Given the description of an element on the screen output the (x, y) to click on. 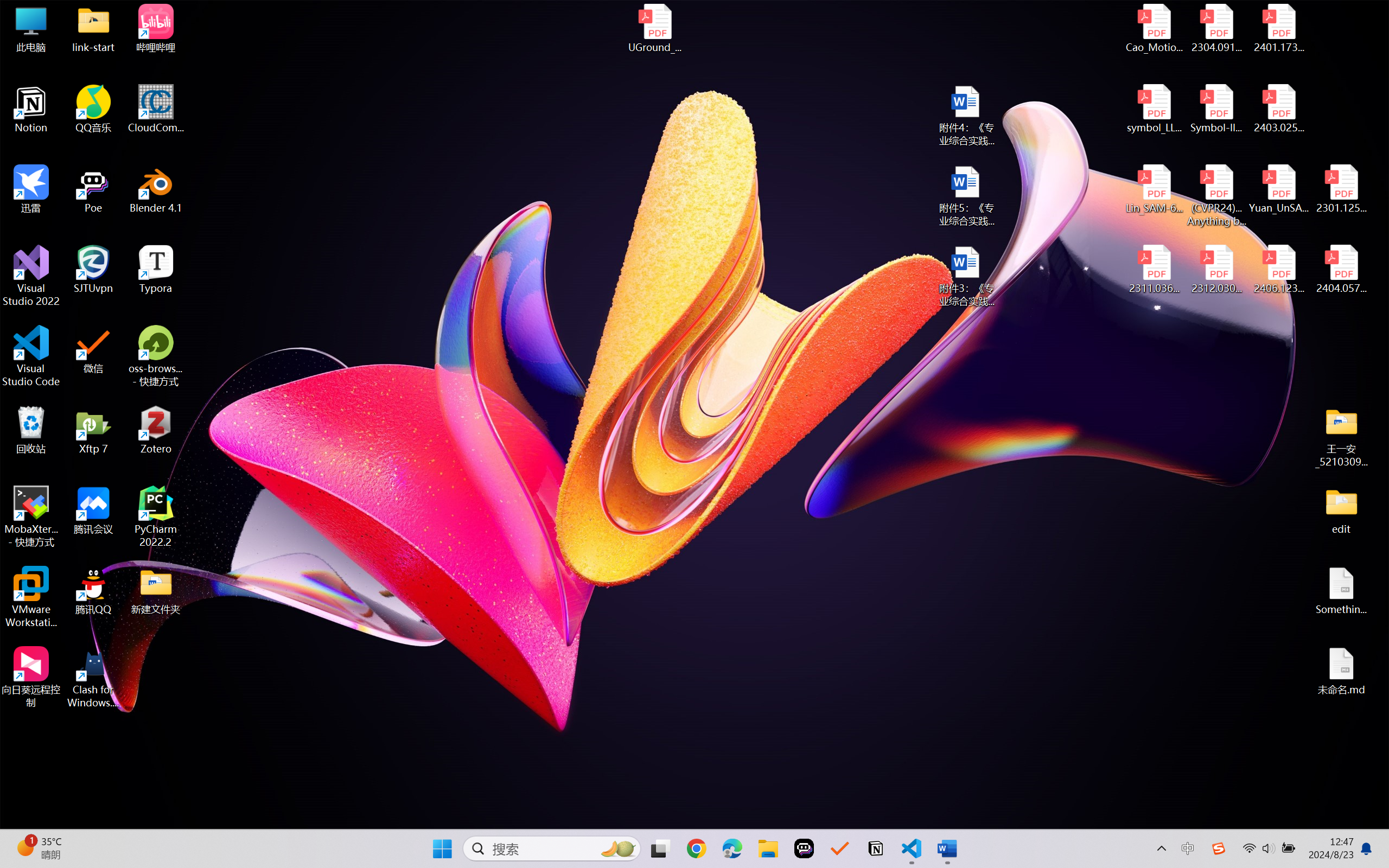
2401.17399v1.pdf (1278, 28)
2404.05719v1.pdf (1340, 269)
Symbol-llm-v2.pdf (1216, 109)
2311.03658v2.pdf (1154, 269)
